Given the description of an element on the screen output the (x, y) to click on. 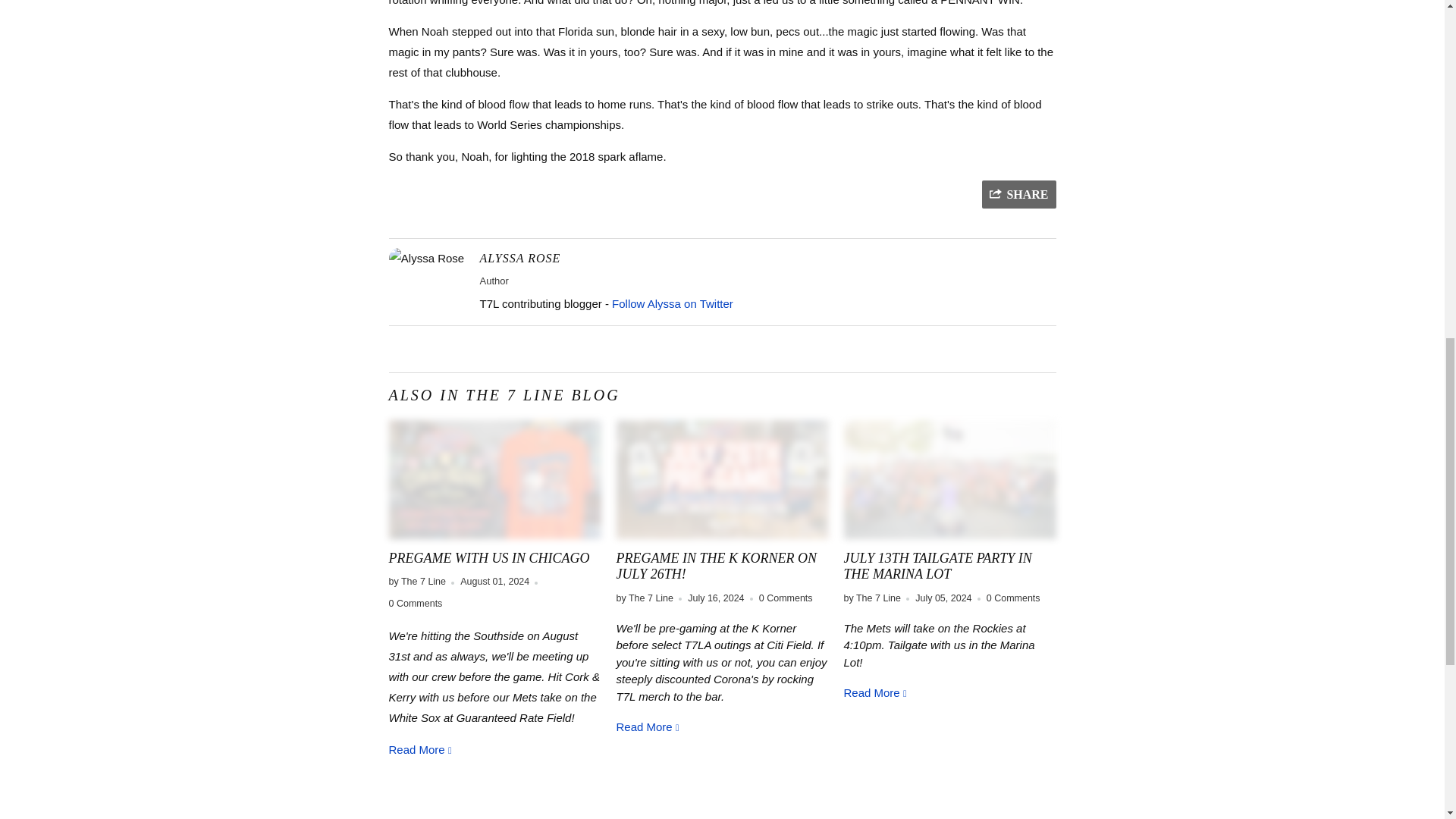
PREGAME WITH US IN CHICAGO (488, 557)
Pregame in the K Korner on July 26th! (715, 566)
PREGAME WITH US IN CHICAGO (420, 748)
PREGAME WITH US IN CHICAGO (493, 479)
Pregame in the K Korner on July 26th! (721, 479)
July 13th Tailgate Party In The Marina Lot (875, 692)
Pregame in the K Korner on July 26th! (647, 726)
July 13th Tailgate Party In The Marina Lot (936, 566)
July 13th Tailgate Party In The Marina Lot (949, 479)
